Given the description of an element on the screen output the (x, y) to click on. 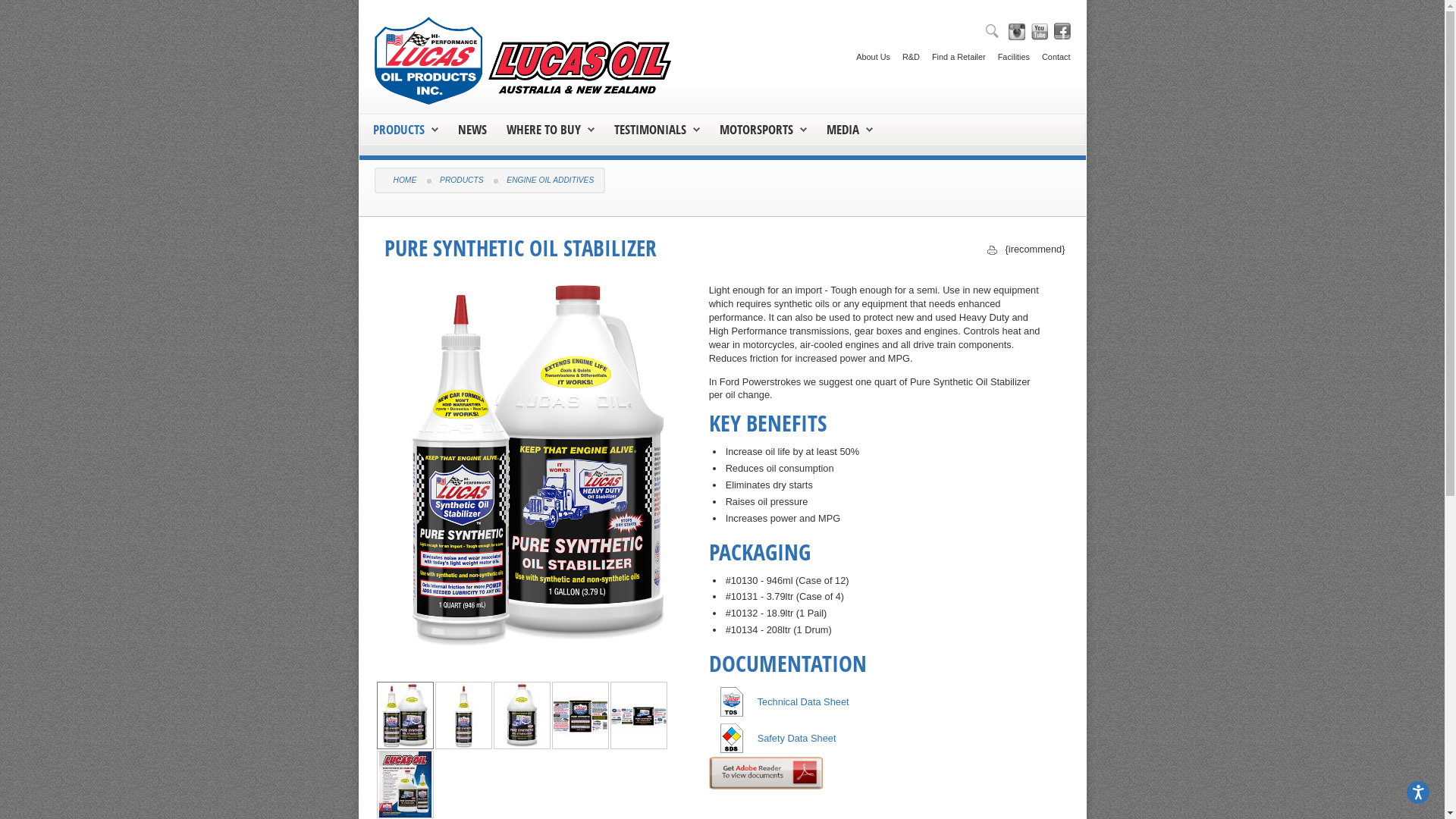
Lucas Oil Logo Element type: hover (525, 60)
R&D Element type: text (904, 52)
Technical Data Sheet Element type: text (803, 701)
WHERE TO BUY Element type: text (550, 129)
HOME Element type: text (404, 179)
PRODUCTS Element type: text (461, 179)
About Us Element type: text (867, 52)
NEWS Element type: text (472, 129)
MEDIA Element type: text (849, 129)
ENGINE OIL ADDITIVES Element type: text (549, 179)
Contact Element type: text (1049, 52)
TESTIMONIALS Element type: text (656, 129)
MOTORSPORTS Element type: text (755, 129)
PRODUCTS Element type: text (398, 129)
Find a Retailer Element type: text (952, 52)
WHERE TO BUY Element type: text (543, 129)
Facilities Element type: text (1007, 52)
Safety Data Sheet Element type: text (796, 737)
MOTORSPORTS Element type: text (762, 129)
TESTIMONIALS Element type: text (650, 129)
MEDIA Element type: text (842, 129)
PRODUCTS Element type: text (405, 129)
